Given the description of an element on the screen output the (x, y) to click on. 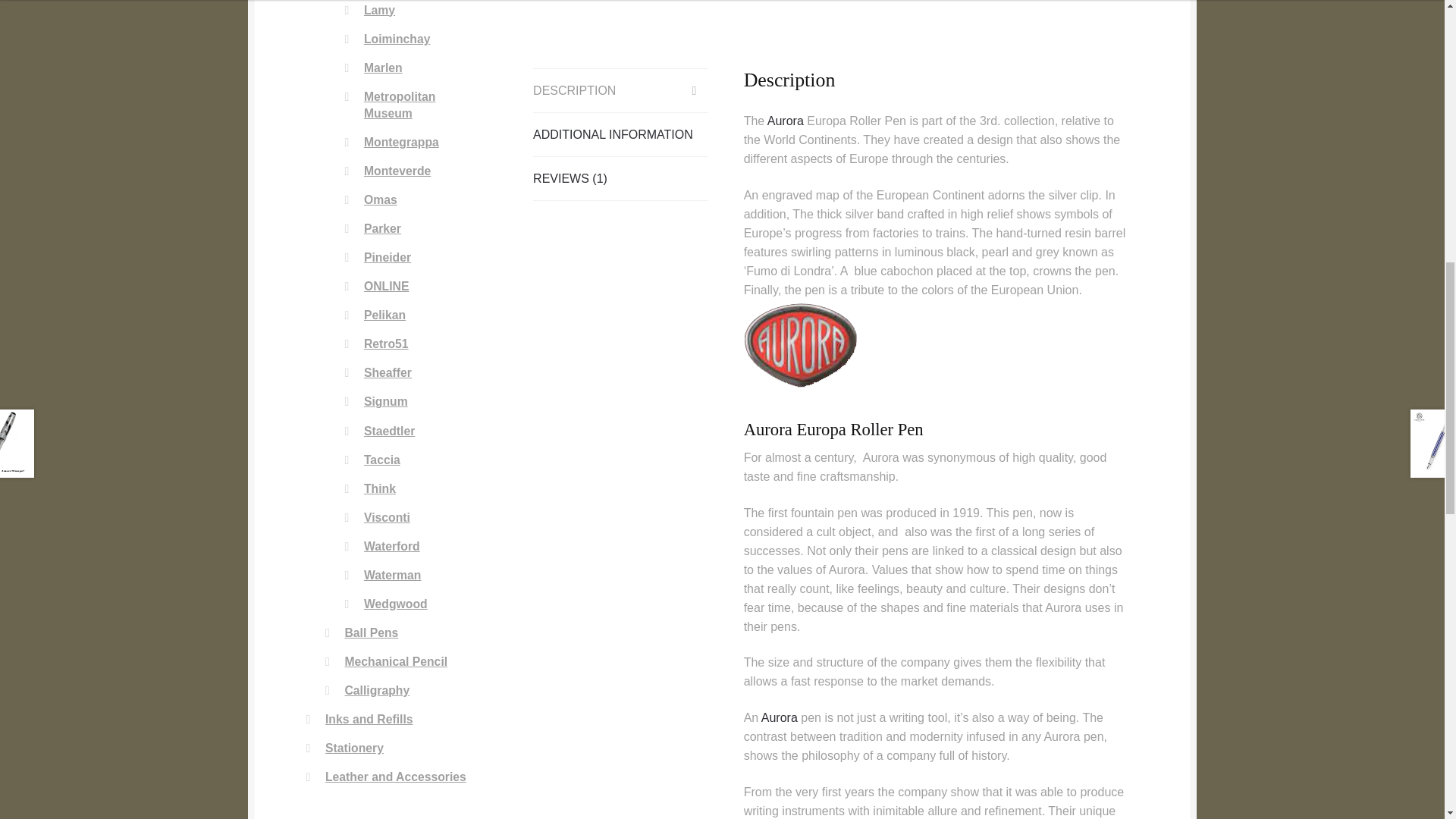
DESCRIPTION (619, 90)
